Given the description of an element on the screen output the (x, y) to click on. 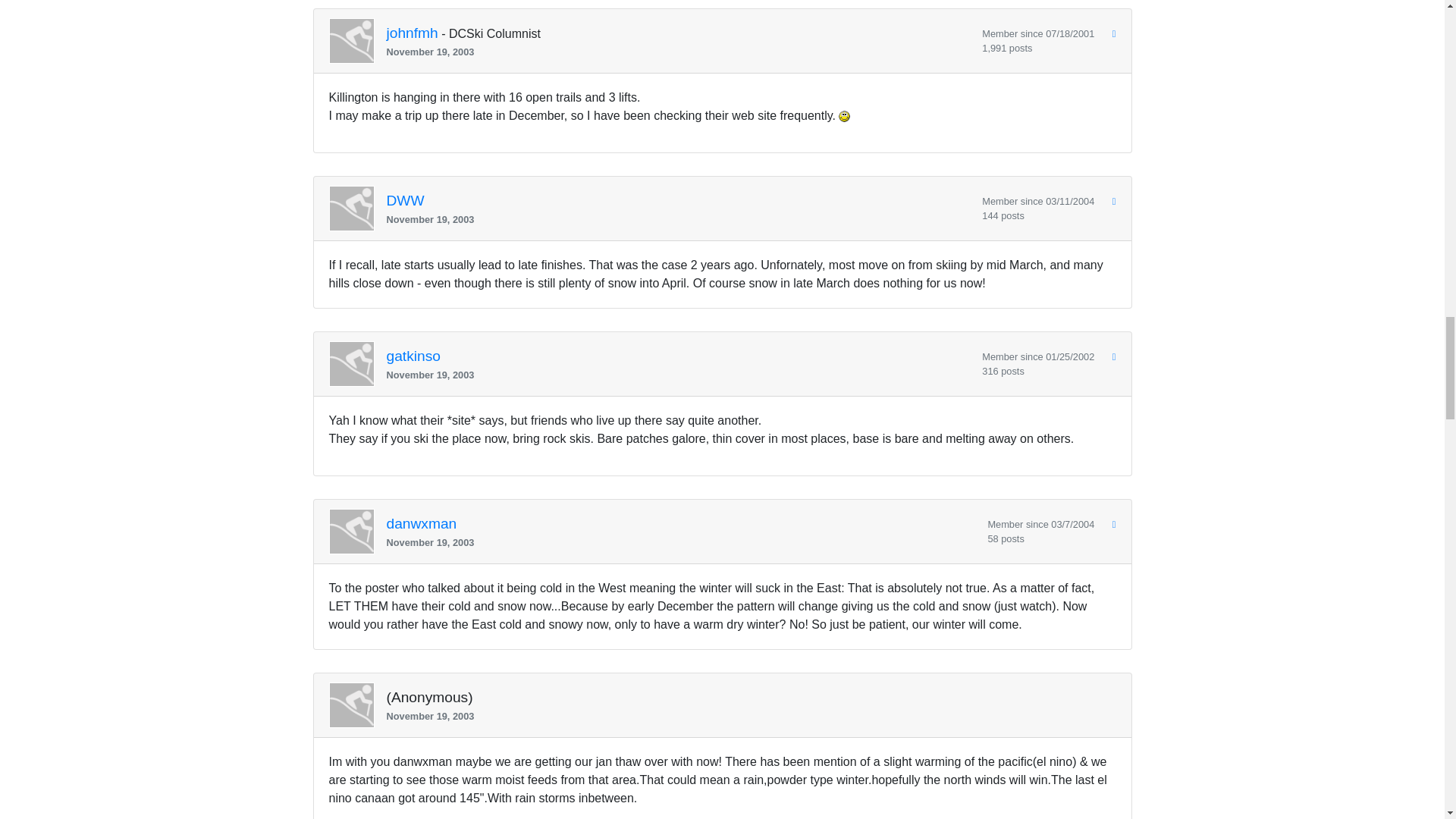
November 19, 2003 at 02:10 pm (679, 219)
November 19, 2003 at 05:13 pm (681, 542)
November 19, 2003 at 06:39 pm (745, 716)
November 19, 2003 at 10:29 am (679, 51)
November 19, 2003 at 03:26 pm (679, 374)
